Given the description of an element on the screen output the (x, y) to click on. 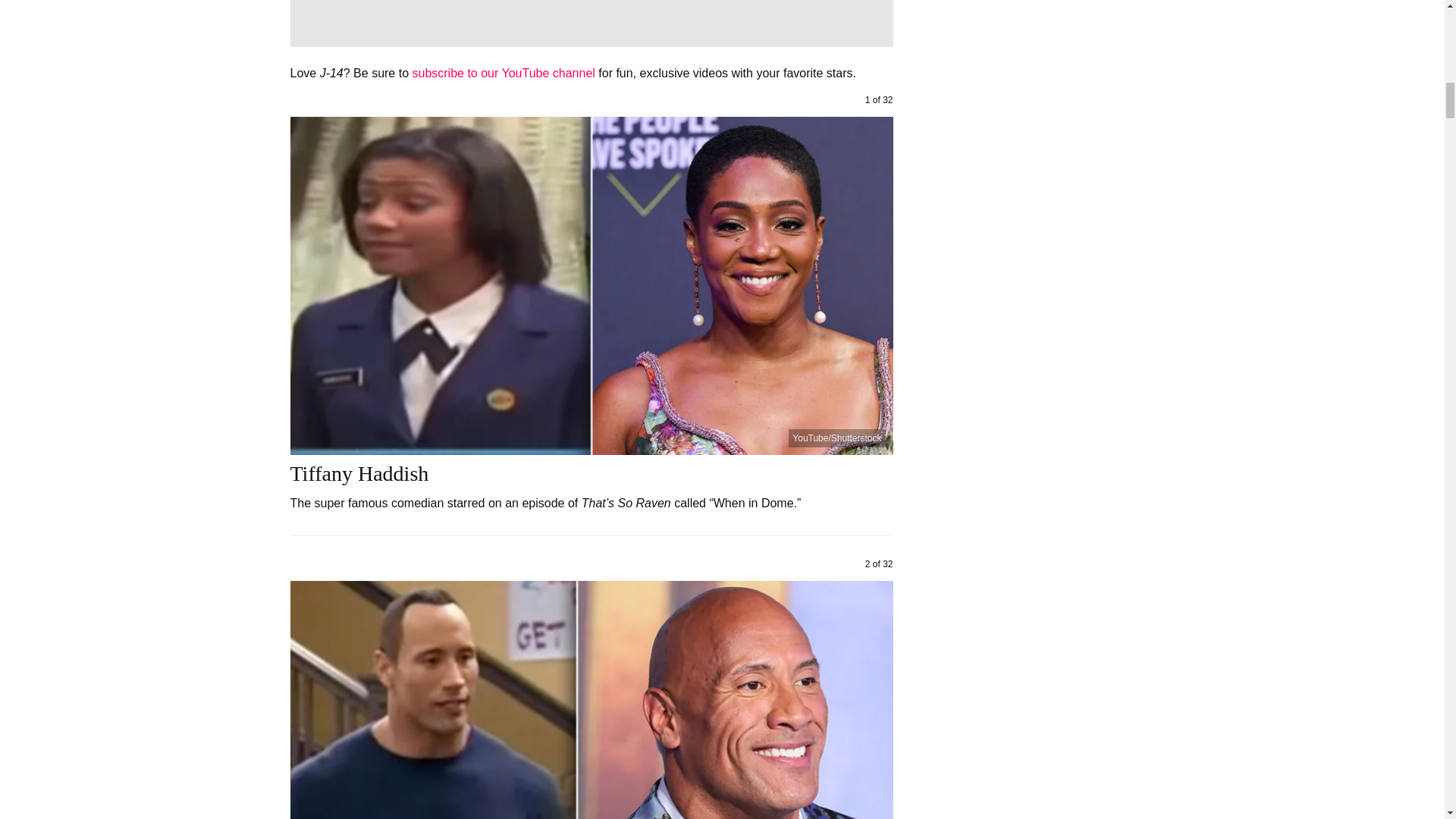
subscribe to our YouTube channel (503, 72)
